Given the description of an element on the screen output the (x, y) to click on. 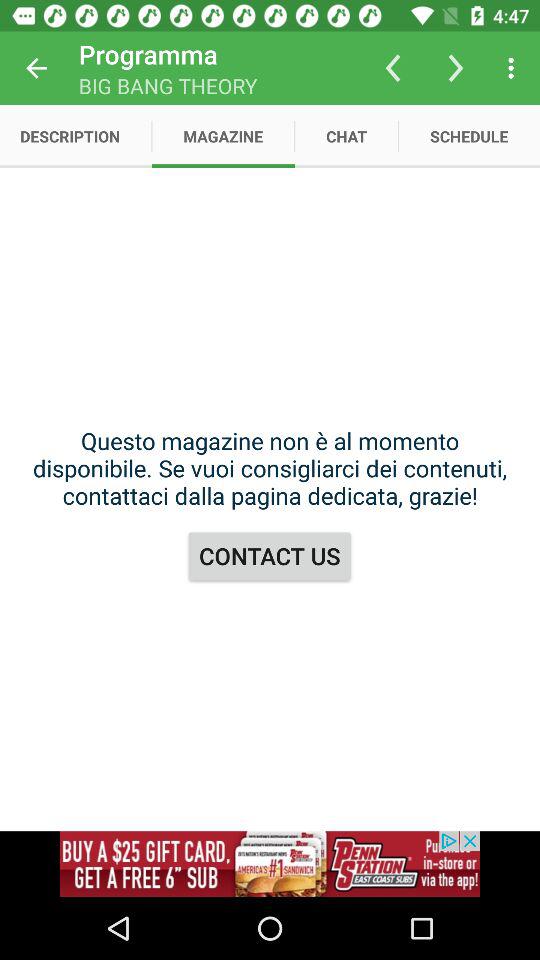
click on text below three dots (469, 136)
click on the second symbol which is left to the menu bar on the top right of the page (456, 68)
select more options button (514, 68)
click the three lines text in the page (269, 468)
